Given the description of an element on the screen output the (x, y) to click on. 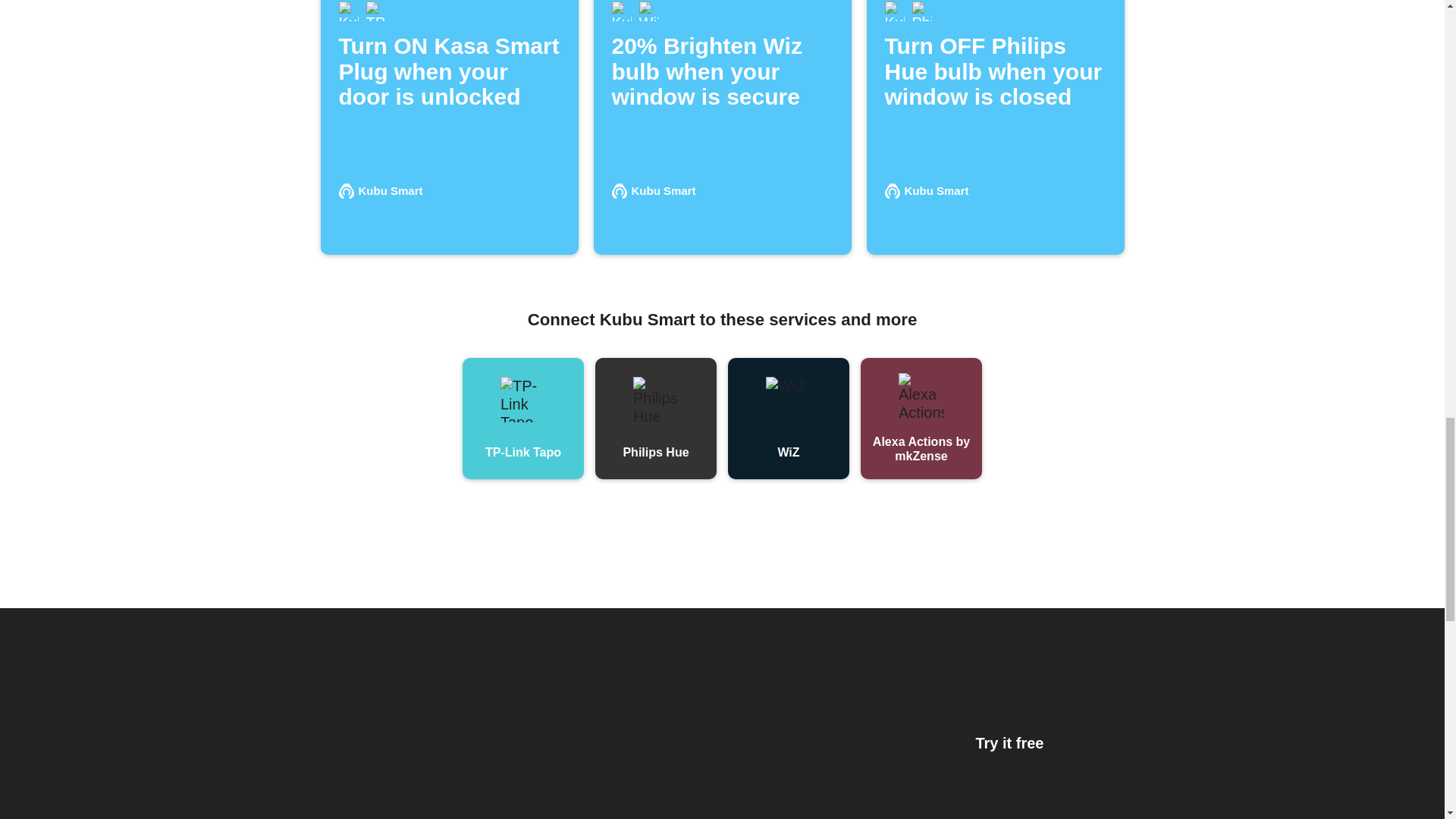
WiZ (788, 418)
Alexa Actions by mkZense (920, 418)
TP-Link Tapo (523, 418)
Philips Hue (721, 724)
